Given the description of an element on the screen output the (x, y) to click on. 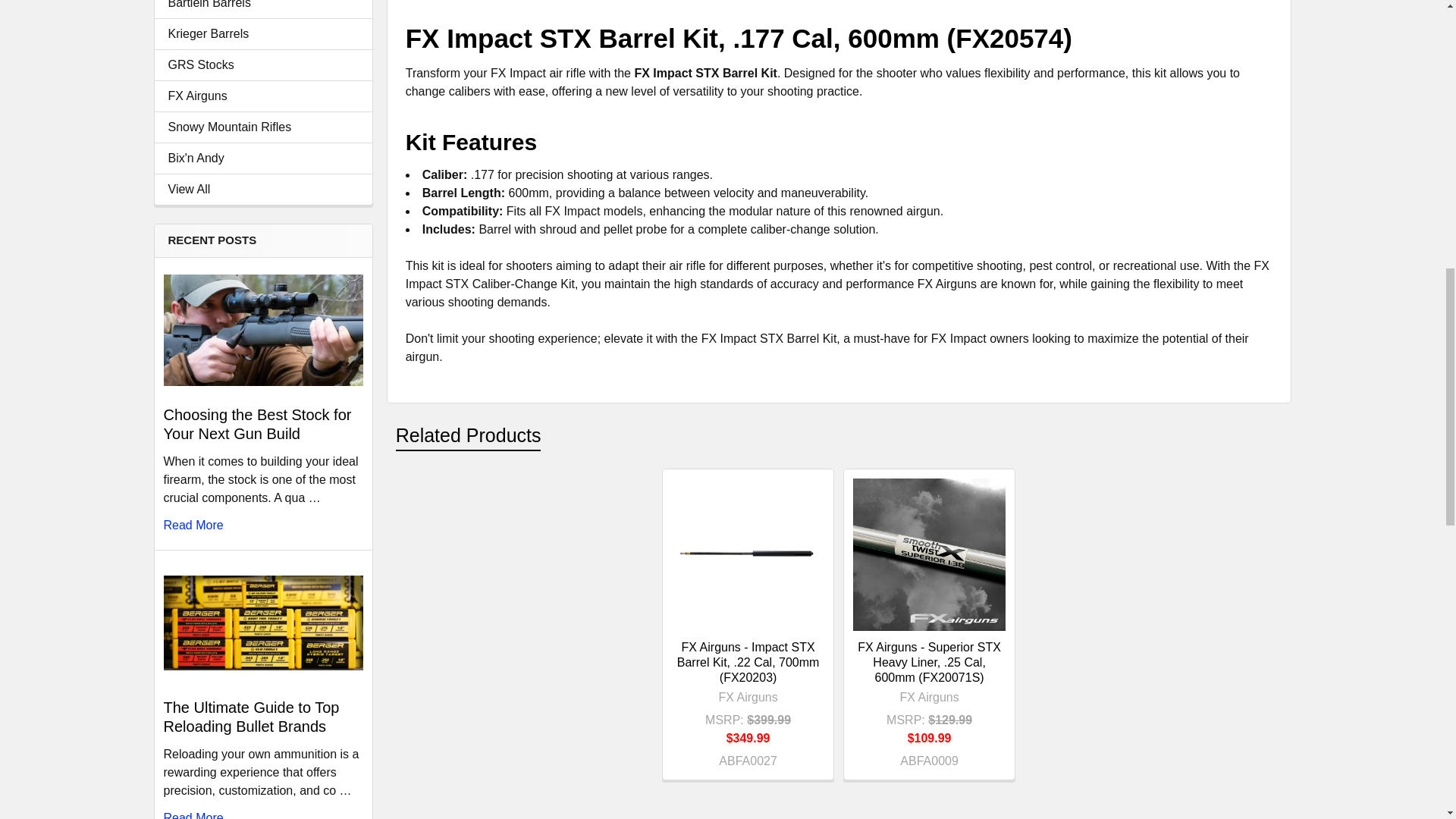
FX Airguns (263, 95)
GRS Stocks (263, 65)
Krieger Barrels (263, 34)
Bartlein Barrels (263, 6)
Bix'n Andy (263, 158)
The Ultimate Guide to Top Reloading Bullet Brands (262, 622)
Snowy Mountain Rifles (263, 126)
Choosing the Best Stock for Your Next Gun Build (262, 329)
